Given the description of an element on the screen output the (x, y) to click on. 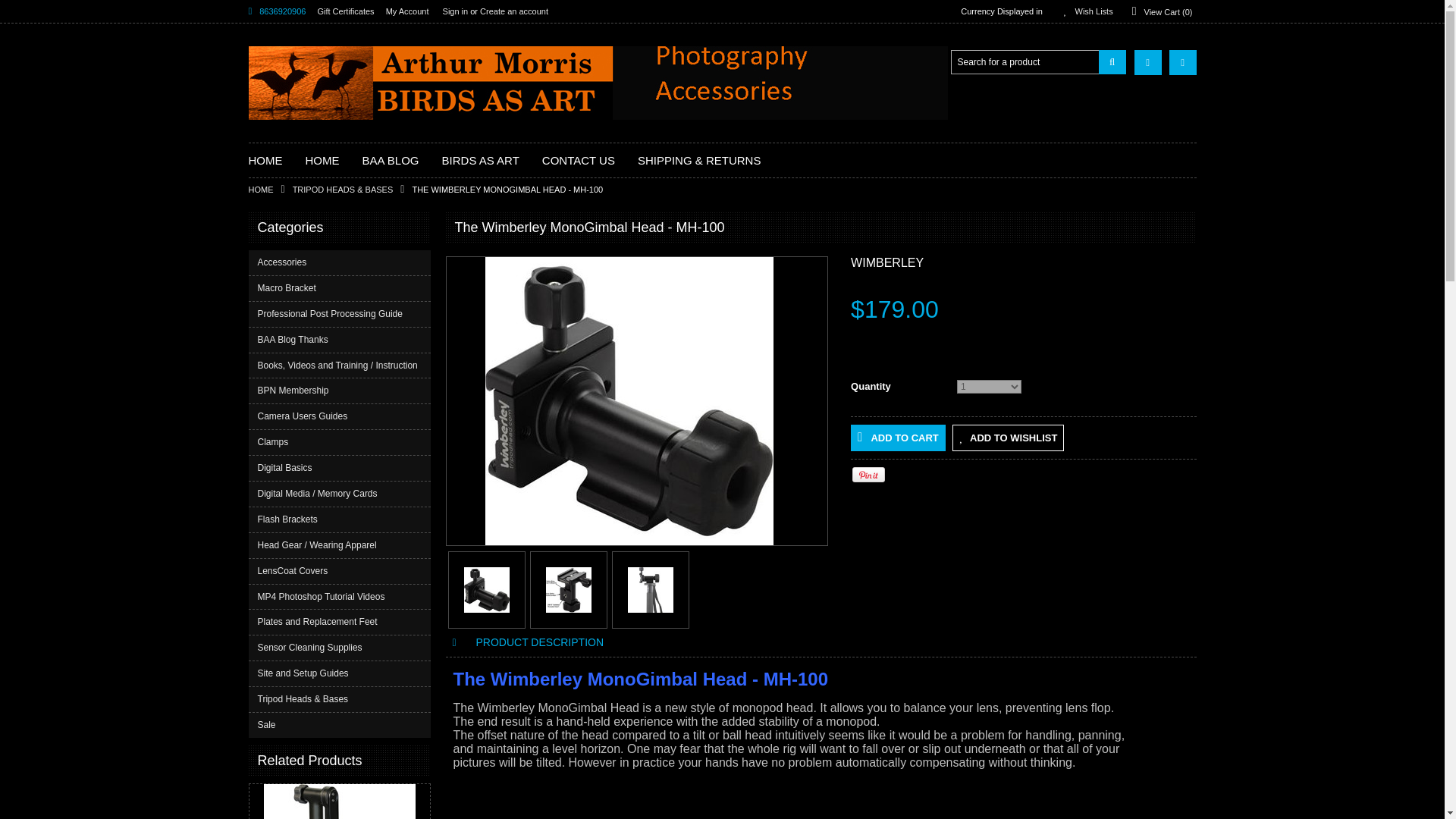
Image 2 (568, 589)
Camera Users Guides (339, 416)
LensCoat Covers (339, 570)
Image 1 (486, 589)
Digital Basics (339, 467)
Macro Bracket (339, 288)
BIRDS AS ART (480, 160)
Search for a product (1025, 61)
Image 1 (628, 401)
Flash Brackets (339, 519)
BAA BLOG (390, 160)
Compare Product (1147, 62)
BPN Membership (339, 390)
Image 3 (649, 589)
Professional Post Processing Guide (339, 314)
